Given the description of an element on the screen output the (x, y) to click on. 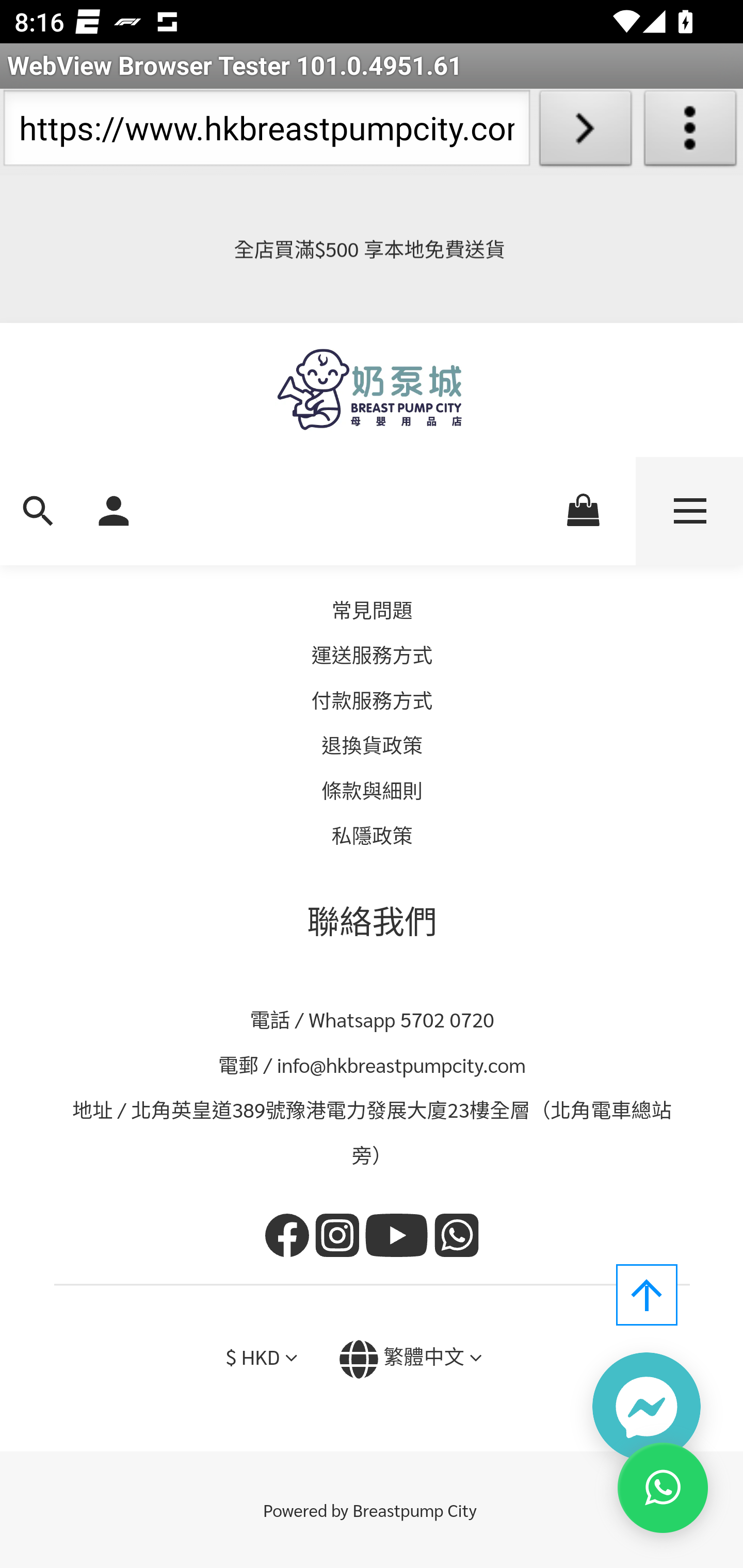
Load URL (585, 132)
About WebView (690, 132)
全店買滿$500 享本地免費送貨  (371, 250)
594x (371, 390)
sign_in (113, 508)
常見問題 (371, 609)
運送服務方式 (371, 655)
付款服務方式 (371, 700)
退換貨政策 (372, 746)
條款與細則 (372, 790)
私隱政策 (371, 836)
聯絡我們 (372, 920)
電話 / Whatsapp 5702 0720 (372, 1019)
電郵 / info@hkbreastpumpcity.com (372, 1065)
地址 / 北角英皇道389號豫港電力發展大廈23樓全層（北角電車總站旁） (372, 1133)
$   HKD  (261, 1358)
繁體中文 (423, 1357)
 (475, 1358)
